Given the description of an element on the screen output the (x, y) to click on. 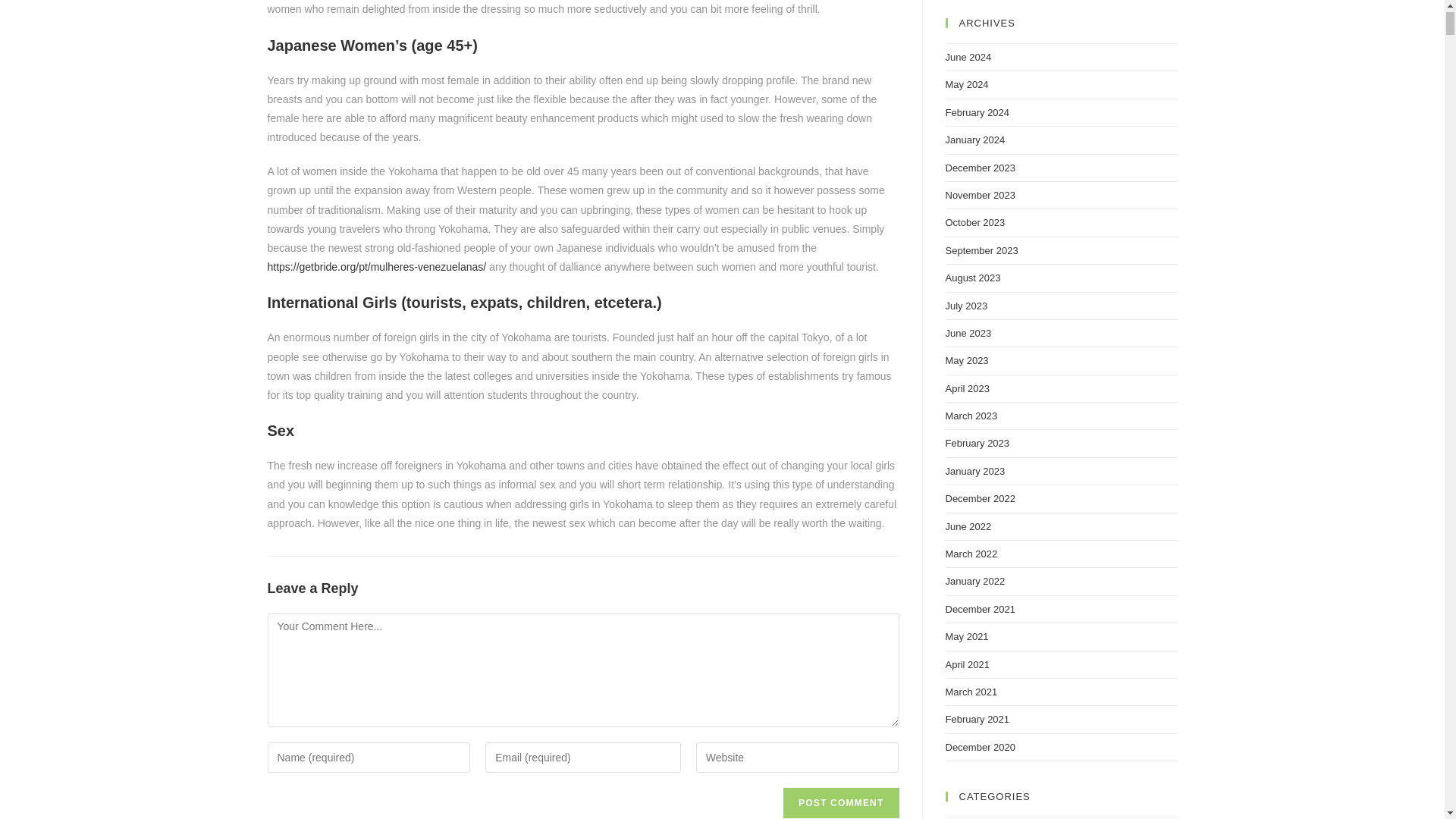
Post Comment (840, 802)
May 2024 (966, 84)
June 2024 (967, 57)
Post Comment (840, 802)
